Given the description of an element on the screen output the (x, y) to click on. 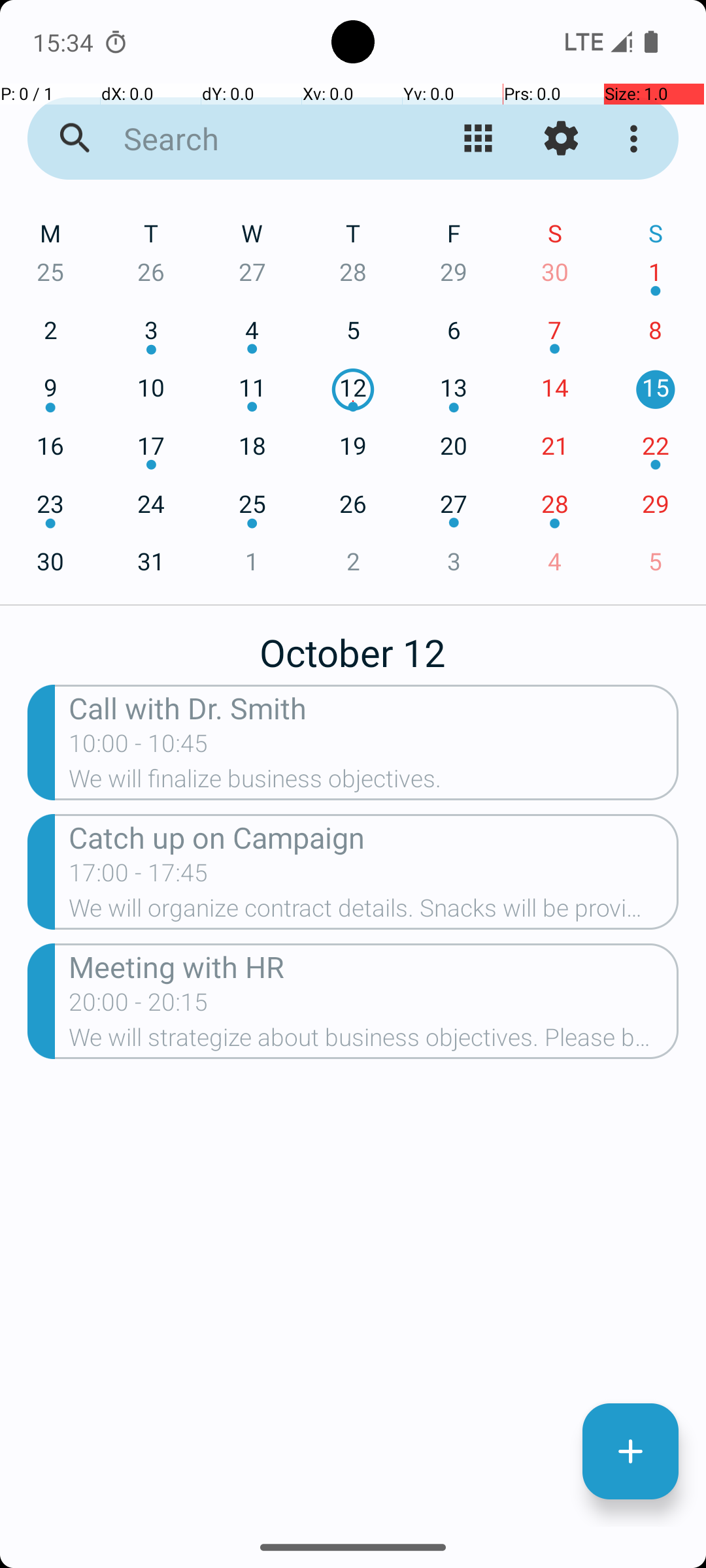
October 12 Element type: android.widget.TextView (352, 644)
10:00 - 10:45 Element type: android.widget.TextView (137, 747)
We will finalize business objectives. Element type: android.widget.TextView (373, 782)
17:00 - 17:45 Element type: android.widget.TextView (137, 876)
We will organize contract details. Snacks will be provided. Element type: android.widget.TextView (373, 911)
20:00 - 20:15 Element type: android.widget.TextView (137, 1005)
We will strategize about business objectives. Please bring relevant documents. Element type: android.widget.TextView (373, 1041)
